Given the description of an element on the screen output the (x, y) to click on. 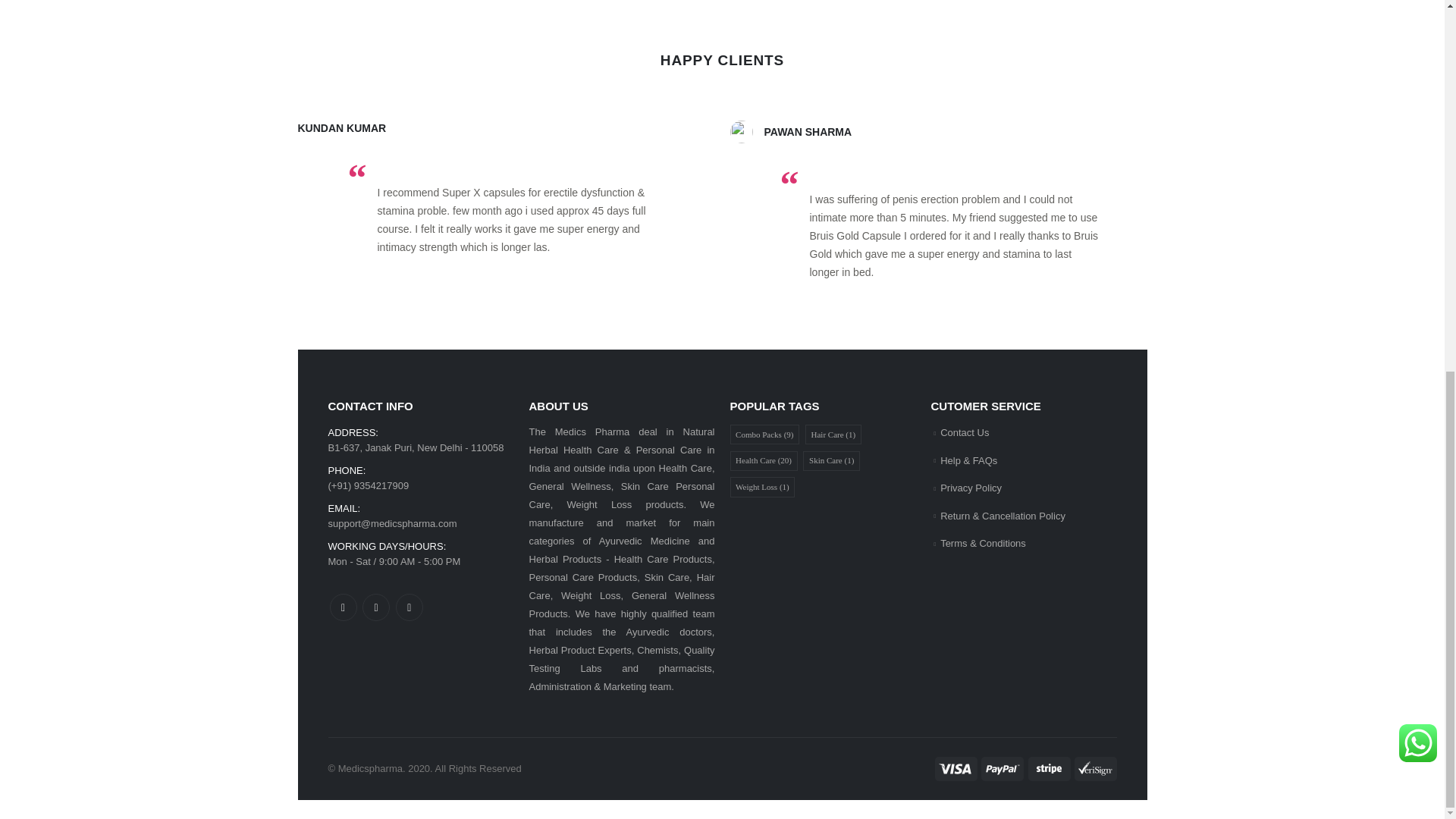
Twitter (376, 606)
WhatsApp us (1418, 67)
Contact Us (964, 432)
Facebook (342, 606)
Linkedin (409, 606)
Privacy Policy (970, 487)
Twitter (376, 606)
Linkedin (409, 606)
Facebook (342, 606)
